Given the description of an element on the screen output the (x, y) to click on. 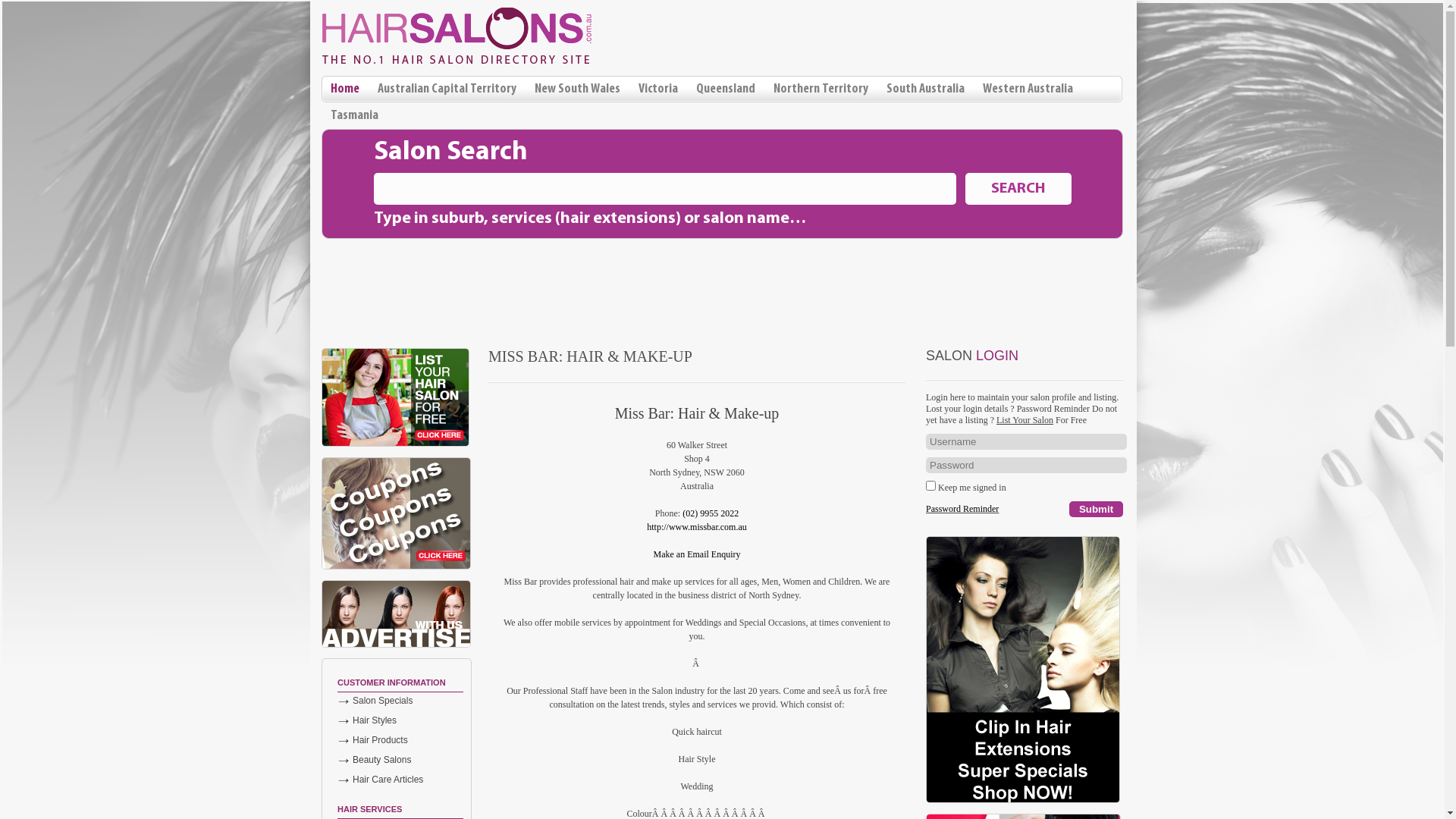
South Australia Element type: text (925, 88)
Tasmania Element type: text (354, 115)
Advertisement Element type: hover (721, 284)
New South Wales Element type: text (577, 88)
Australian Capital Territory Element type: text (446, 88)
Western Australia Element type: text (1027, 88)
Hair Products Element type: text (400, 740)
Victoria Element type: text (658, 88)
Submit Element type: text (1096, 509)
Northern Territory Element type: text (820, 88)
Make an Email Enquiry Element type: text (696, 554)
Beauty Salons Element type: text (400, 760)
Salon Specials Element type: text (400, 701)
Home Element type: text (344, 88)
Queensland Element type: text (725, 88)
Hair Care Articles Element type: text (400, 779)
SEARCH Element type: text (1017, 188)
Hair Styles Element type: text (400, 720)
Password Reminder Element type: text (961, 508)
Advertisement Element type: hover (945, 32)
http://www.missbar.com.au Element type: text (696, 526)
List Your Salon Element type: text (1024, 419)
